Given the description of an element on the screen output the (x, y) to click on. 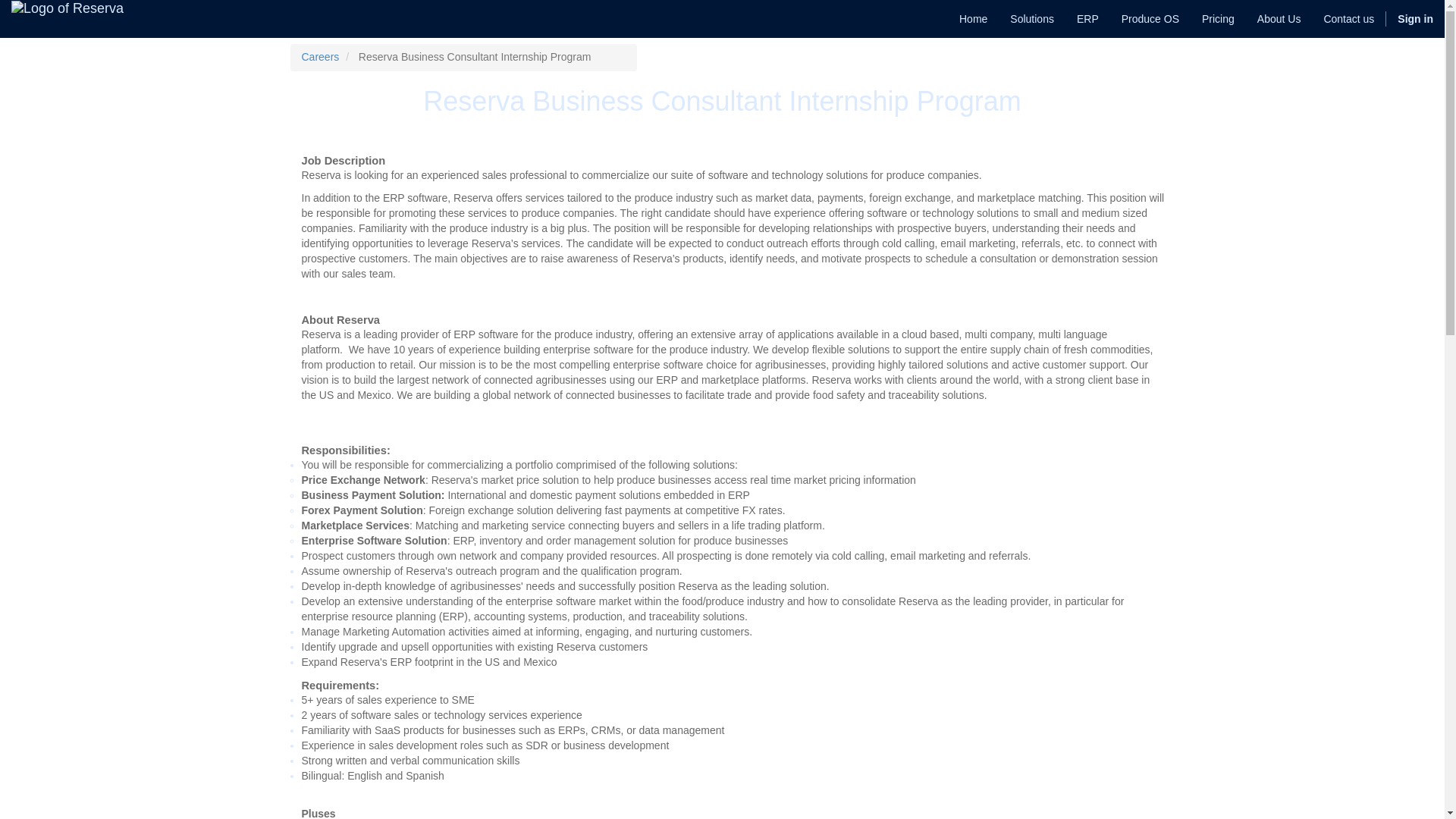
Pricing (1218, 18)
About Us (1279, 18)
Contact us (1348, 18)
Home (972, 18)
Solutions (1031, 18)
Reserva (67, 7)
Produce OS (1150, 18)
Careers (320, 56)
ERP (1087, 18)
